Given the description of an element on the screen output the (x, y) to click on. 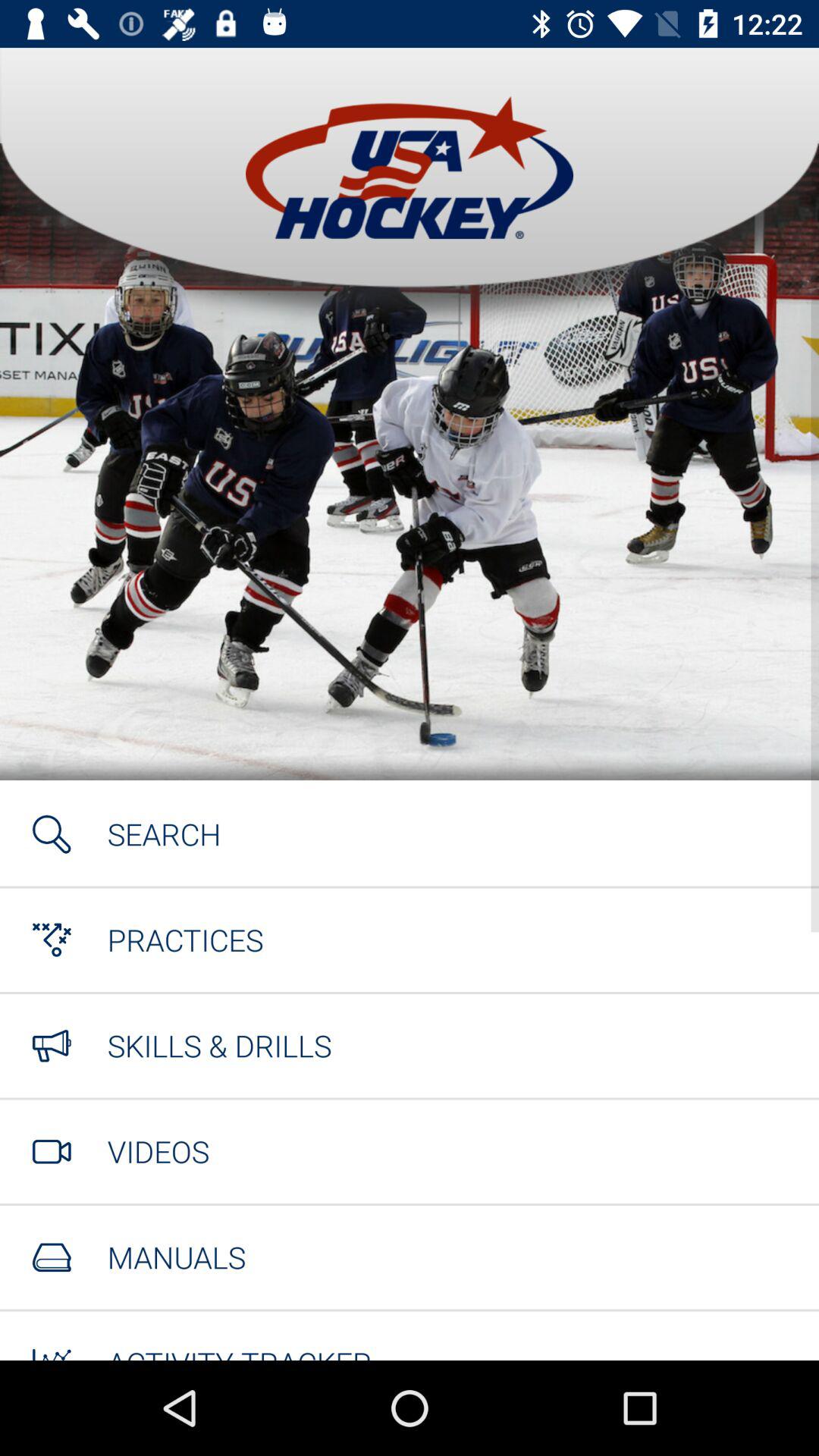
launch manuals icon (176, 1257)
